Given the description of an element on the screen output the (x, y) to click on. 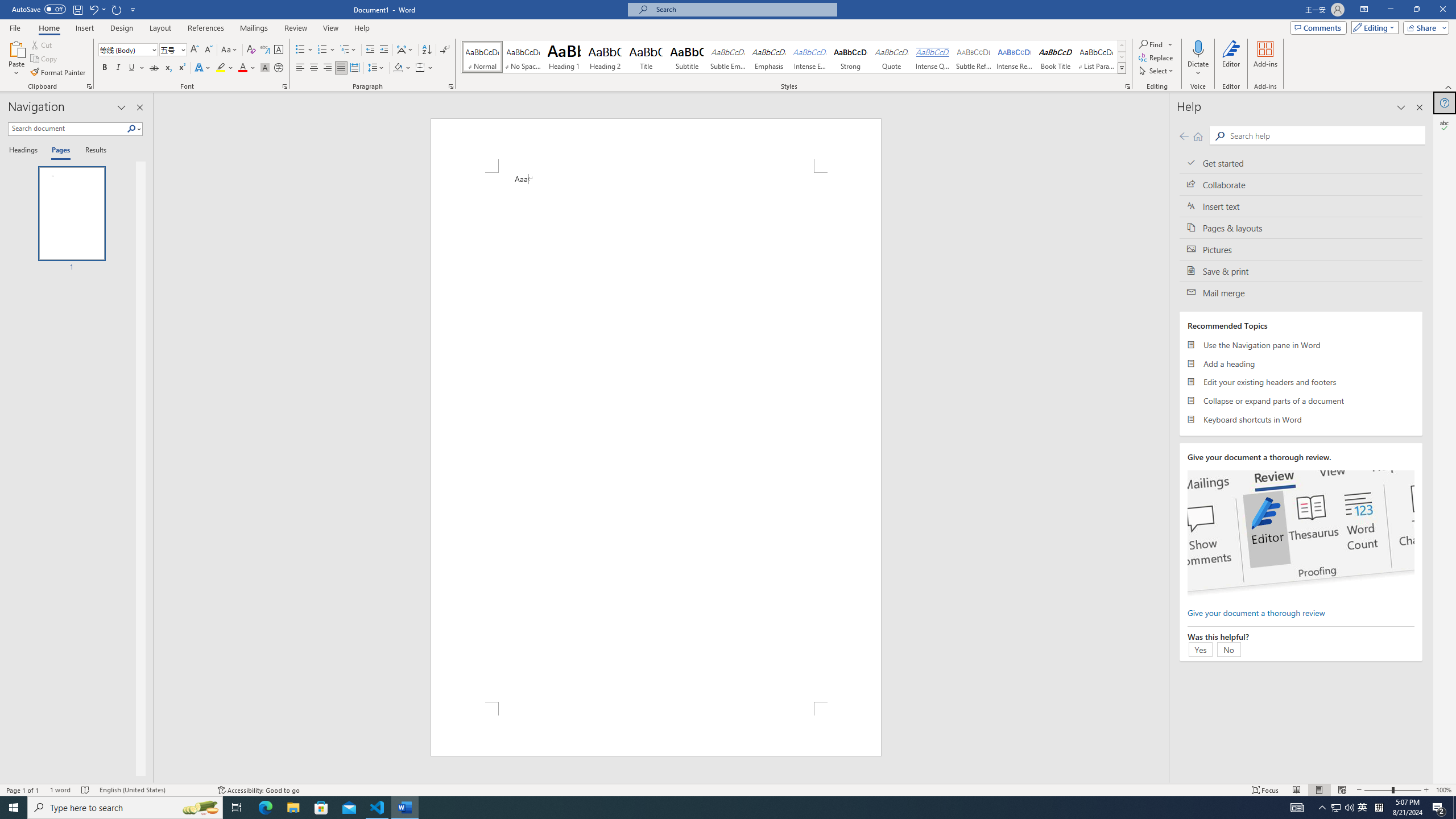
Previous page (1183, 136)
